Given the description of an element on the screen output the (x, y) to click on. 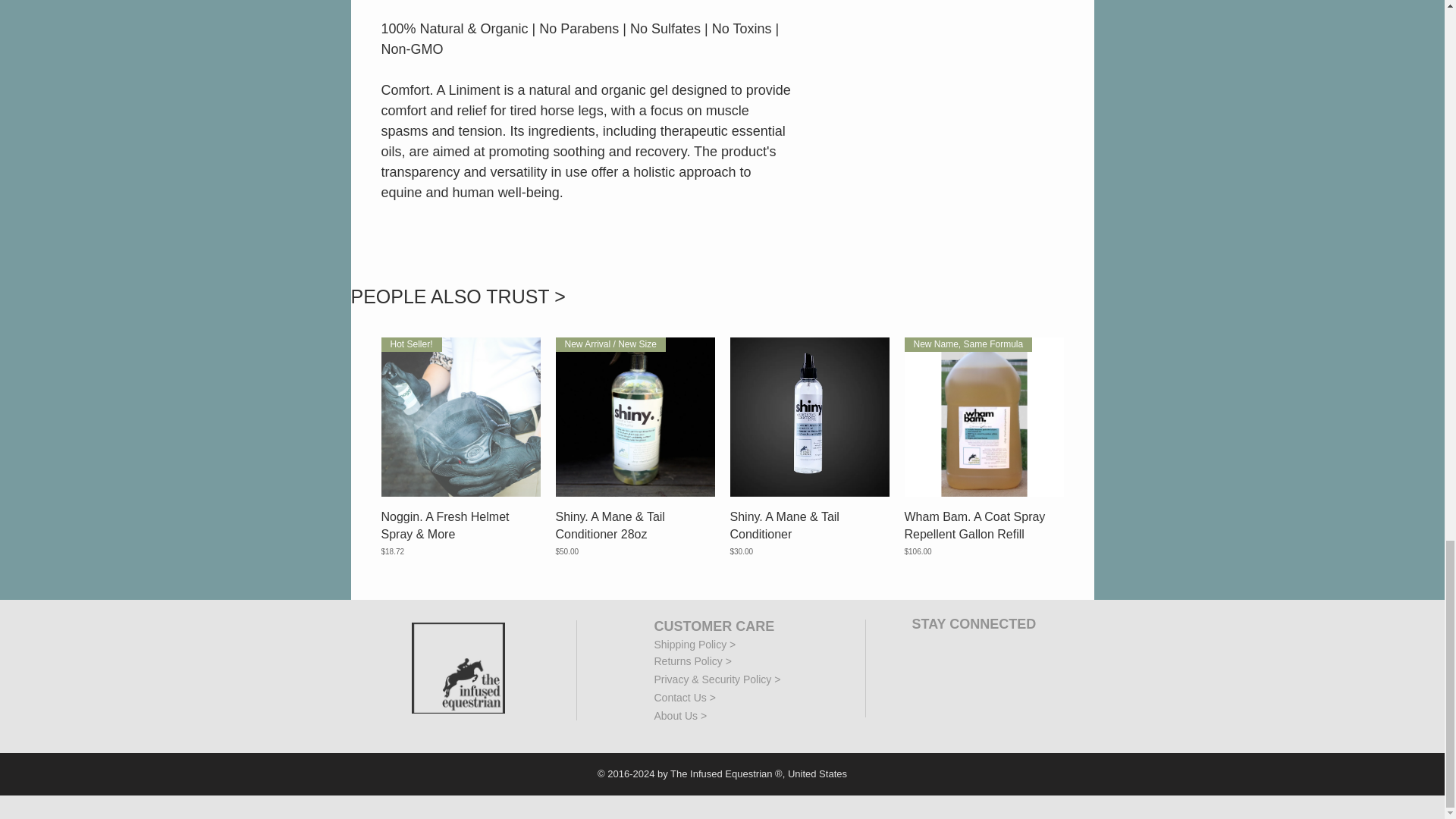
Hot Seller! (460, 416)
New Name, Same Formula (983, 416)
